Given the description of an element on the screen output the (x, y) to click on. 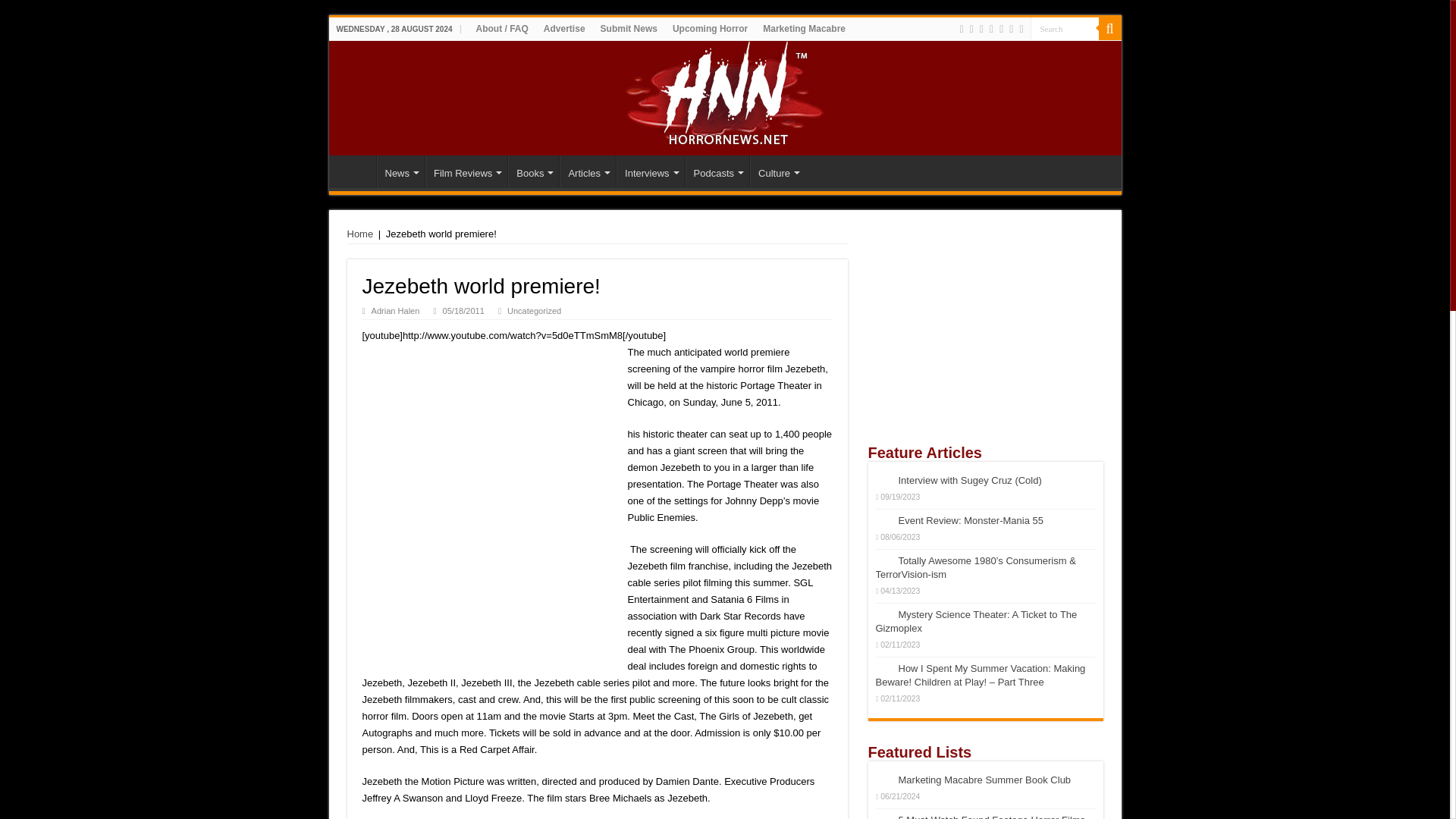
Upcoming Horror (710, 28)
Marketing Macabre (804, 28)
Search (1109, 28)
HOME (355, 171)
Submit News to Horrornews.net (628, 28)
Search (1063, 28)
Search (1063, 28)
News (400, 171)
Search (1063, 28)
Advertise (563, 28)
